Given the description of an element on the screen output the (x, y) to click on. 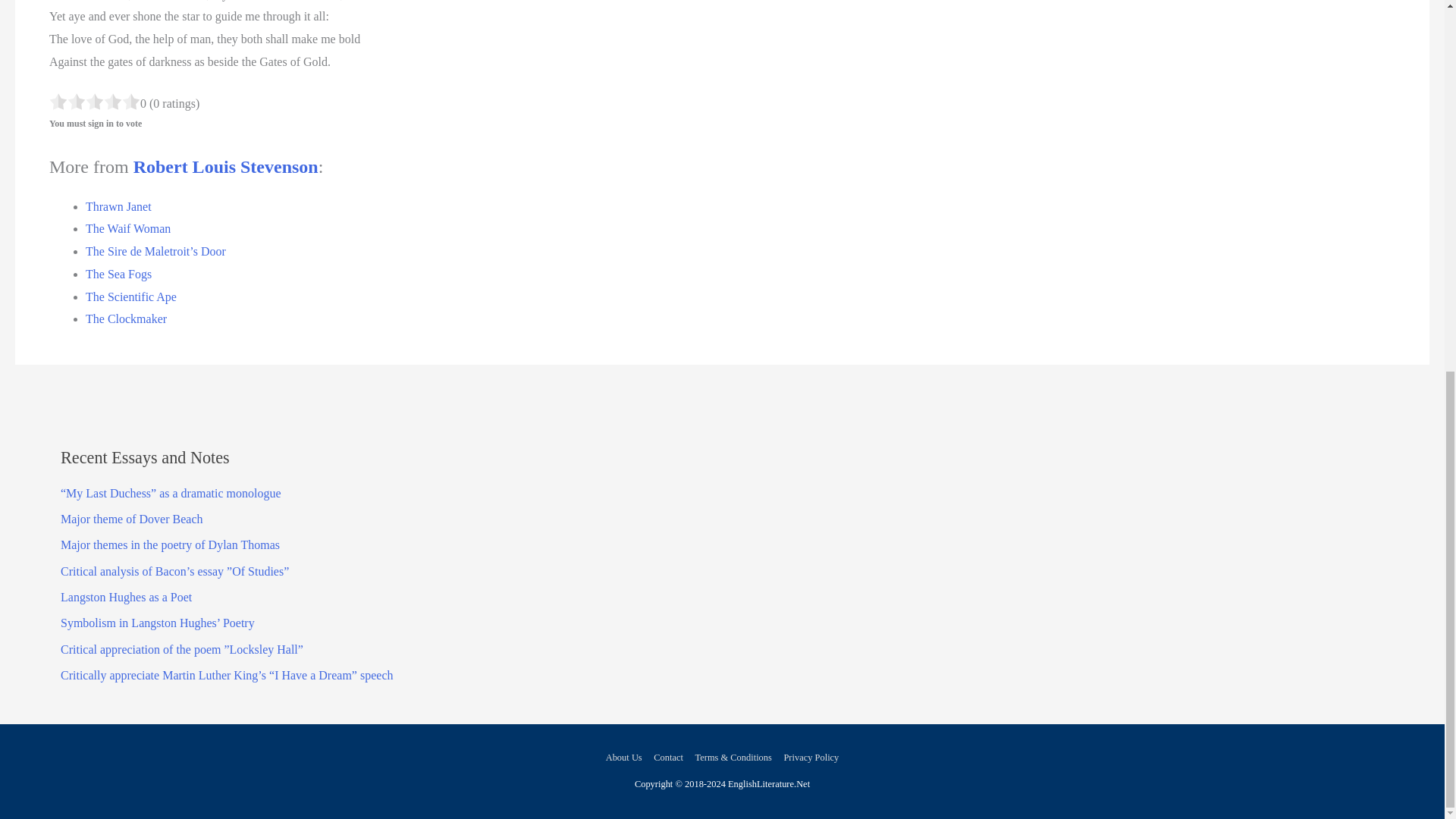
Robert Louis Stevenson (225, 166)
Thrawn Janet (118, 205)
The Sea Fogs (118, 273)
Major themes in the poetry of Dylan Thomas (170, 544)
Contact (668, 757)
Major theme of Dover Beach (131, 518)
The Scientific Ape (130, 296)
The Waif Woman (127, 228)
About Us (625, 757)
The Clockmaker (126, 318)
Langston Hughes as a Poet (126, 596)
Privacy Policy (808, 757)
